Given the description of an element on the screen output the (x, y) to click on. 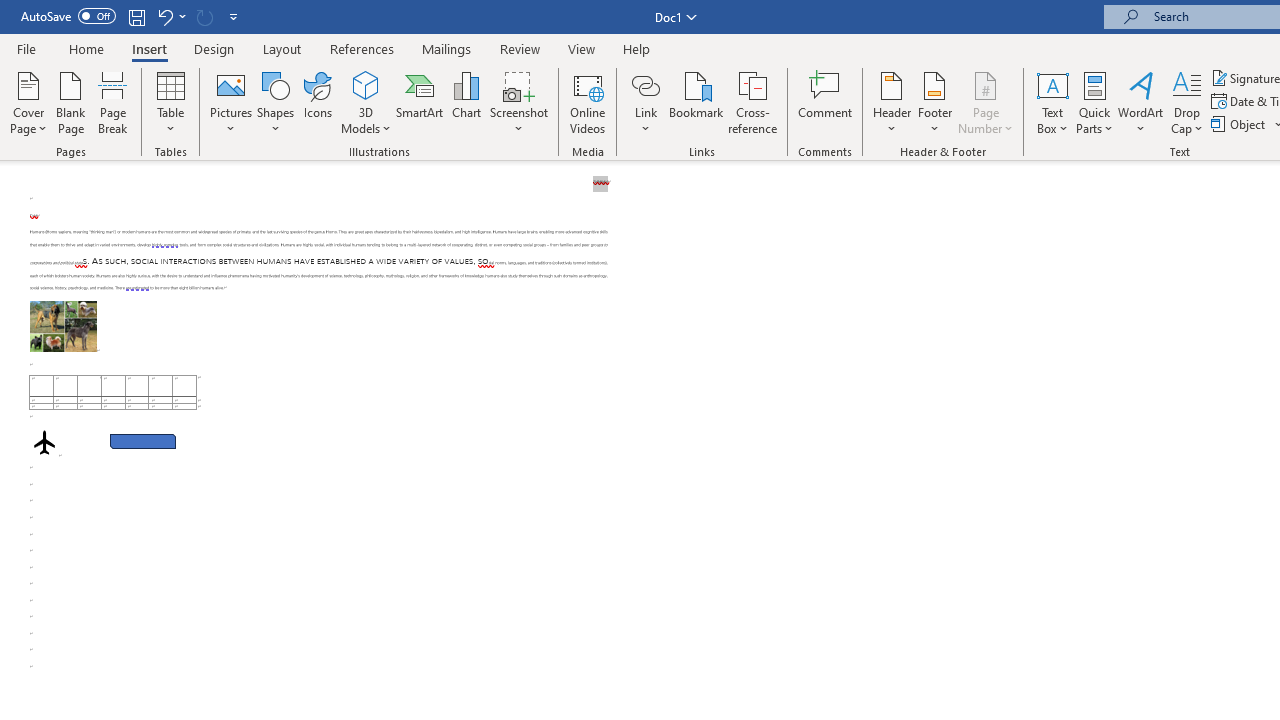
Bookmark... (695, 102)
Help (637, 48)
File Tab (26, 48)
Footer (934, 102)
Screenshot (518, 102)
